Given the description of an element on the screen output the (x, y) to click on. 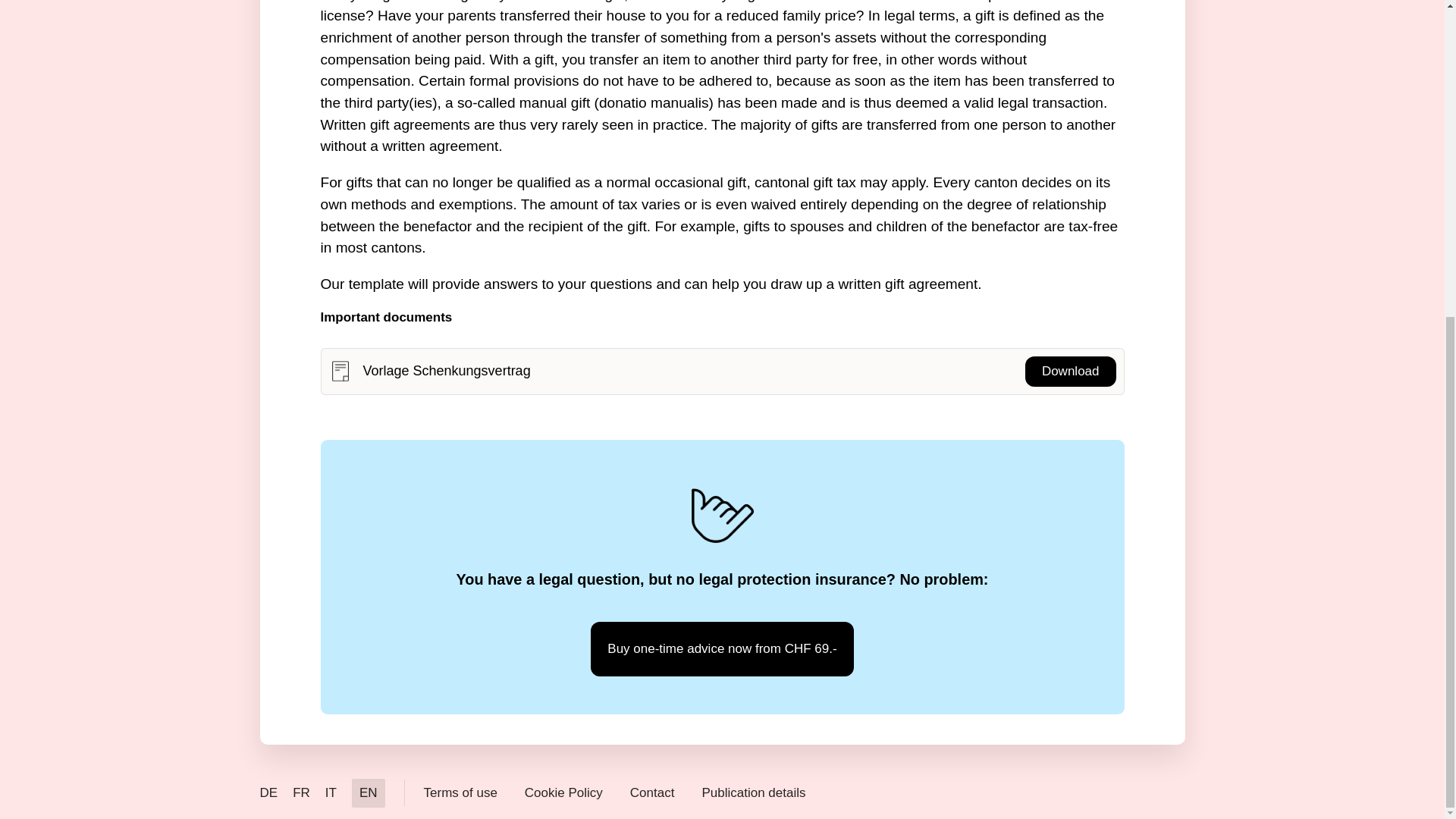
Download (1070, 371)
Terms of use (460, 792)
Buy one-time advice now from CHF 69.- (722, 648)
Cookie Policy (563, 792)
EN (368, 792)
Publication details (753, 792)
Contact (652, 792)
